Given the description of an element on the screen output the (x, y) to click on. 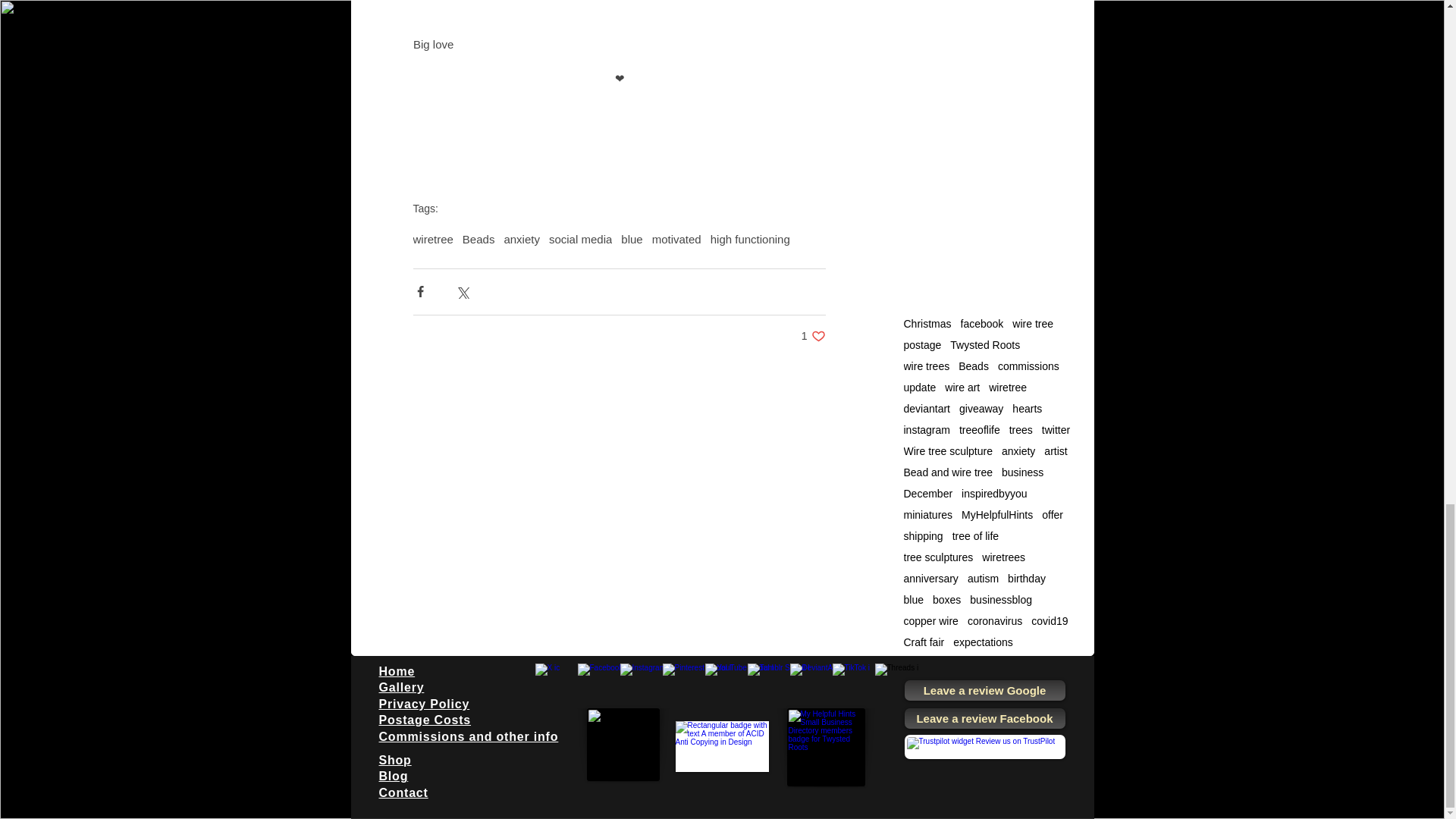
blue (631, 238)
wiretree (432, 238)
motivated (676, 238)
social media (579, 238)
high functioning (750, 238)
Beads (813, 336)
anxiety (479, 238)
